Given the description of an element on the screen output the (x, y) to click on. 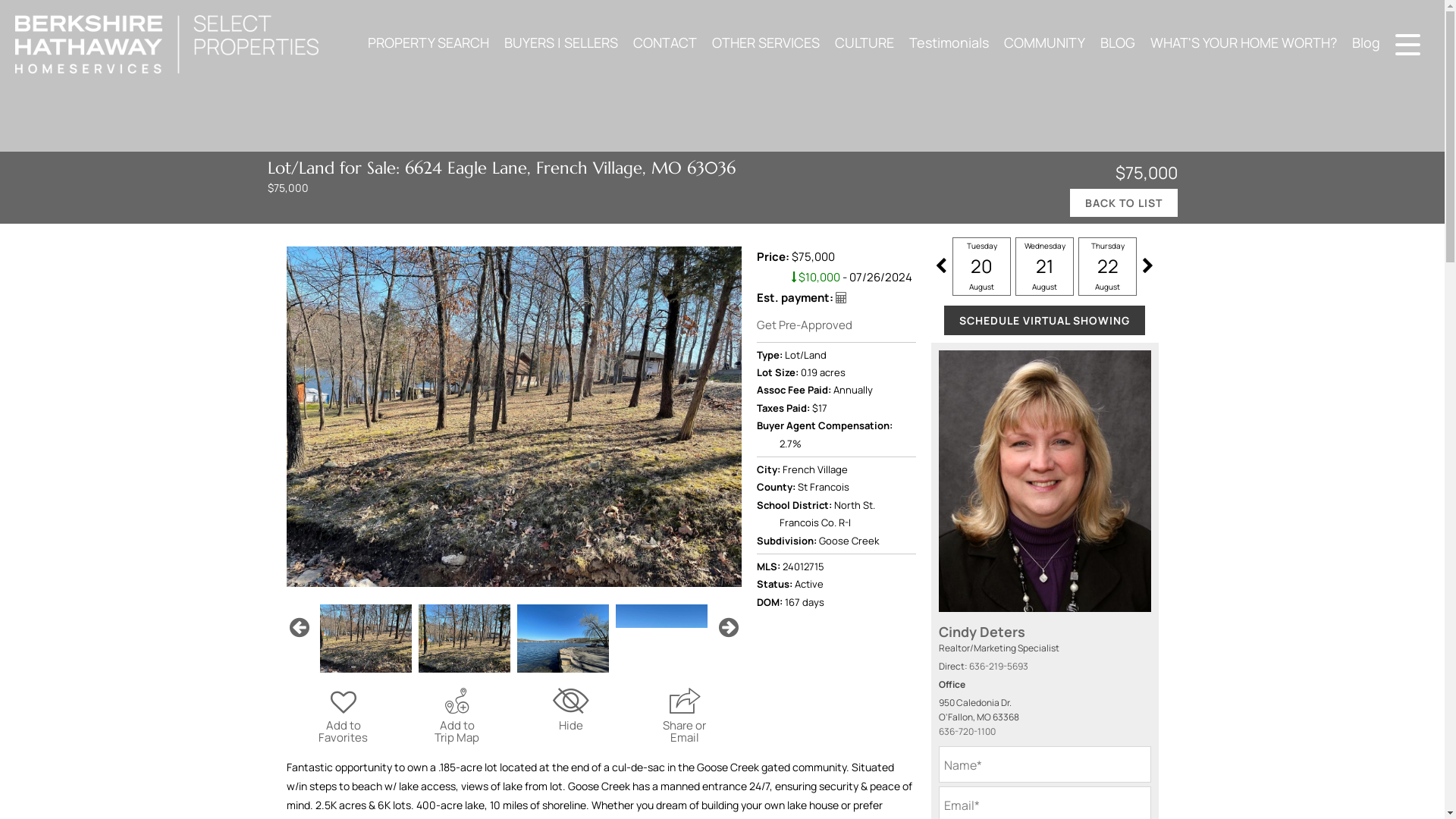
COMMUNITY (1044, 42)
CULTURE (864, 42)
Testimonials (948, 42)
PROPERTY SEARCH (427, 42)
CONTACT (665, 42)
OTHER SERVICES (765, 42)
